Given the description of an element on the screen output the (x, y) to click on. 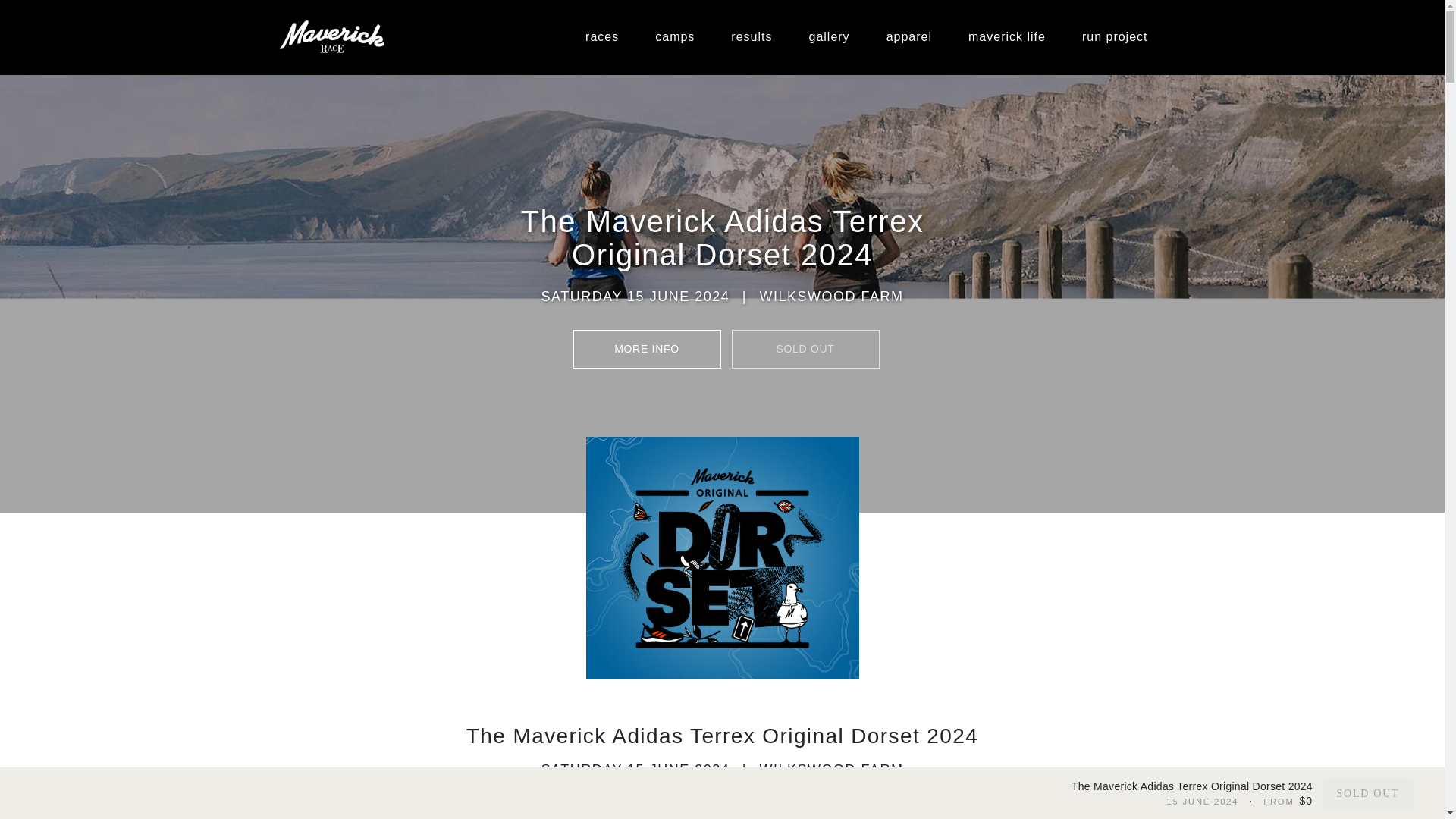
apparel (908, 37)
Maverick Race Trail Running Events (332, 37)
camps (675, 37)
MORE INFO (646, 349)
gallery (828, 37)
results (751, 37)
maverick life (1007, 37)
races (602, 37)
SOLD OUT (804, 349)
run project (1115, 37)
